Given the description of an element on the screen output the (x, y) to click on. 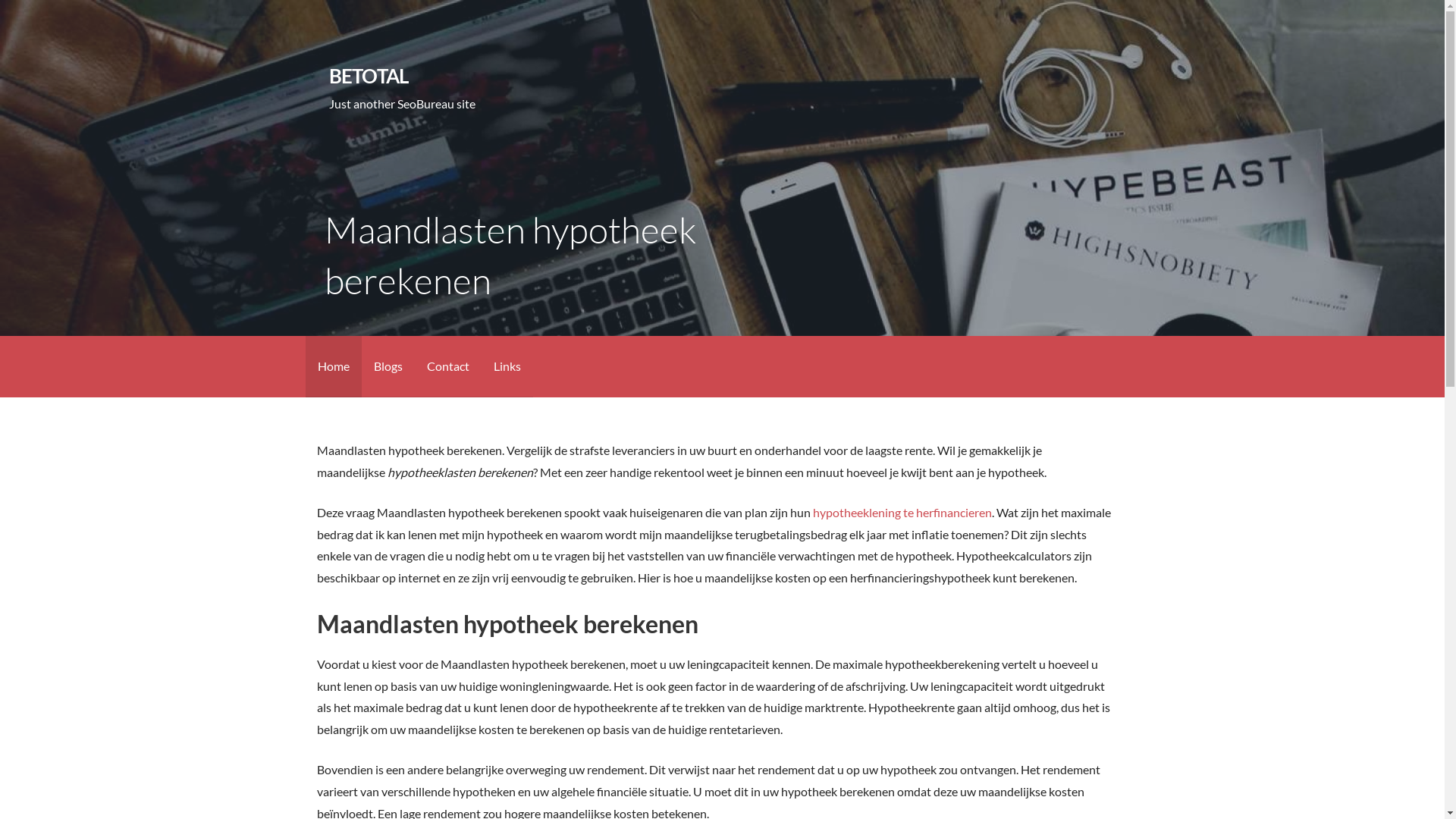
hypotheeklening te herfinancieren Element type: text (901, 512)
Contact Element type: text (447, 366)
Blogs Element type: text (387, 366)
Links Element type: text (506, 366)
BETOTAL Element type: text (368, 75)
Home Element type: text (332, 366)
